Given the description of an element on the screen output the (x, y) to click on. 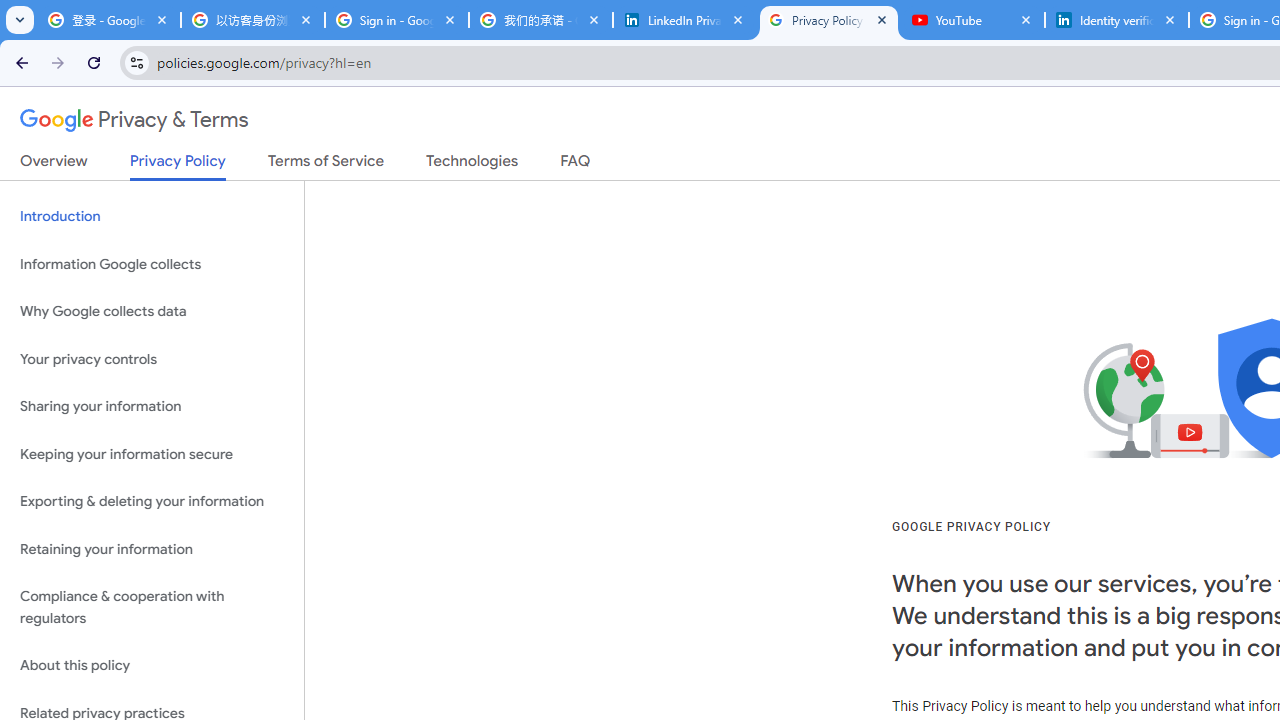
Sign in - Google Accounts (396, 20)
